Given the description of an element on the screen output the (x, y) to click on. 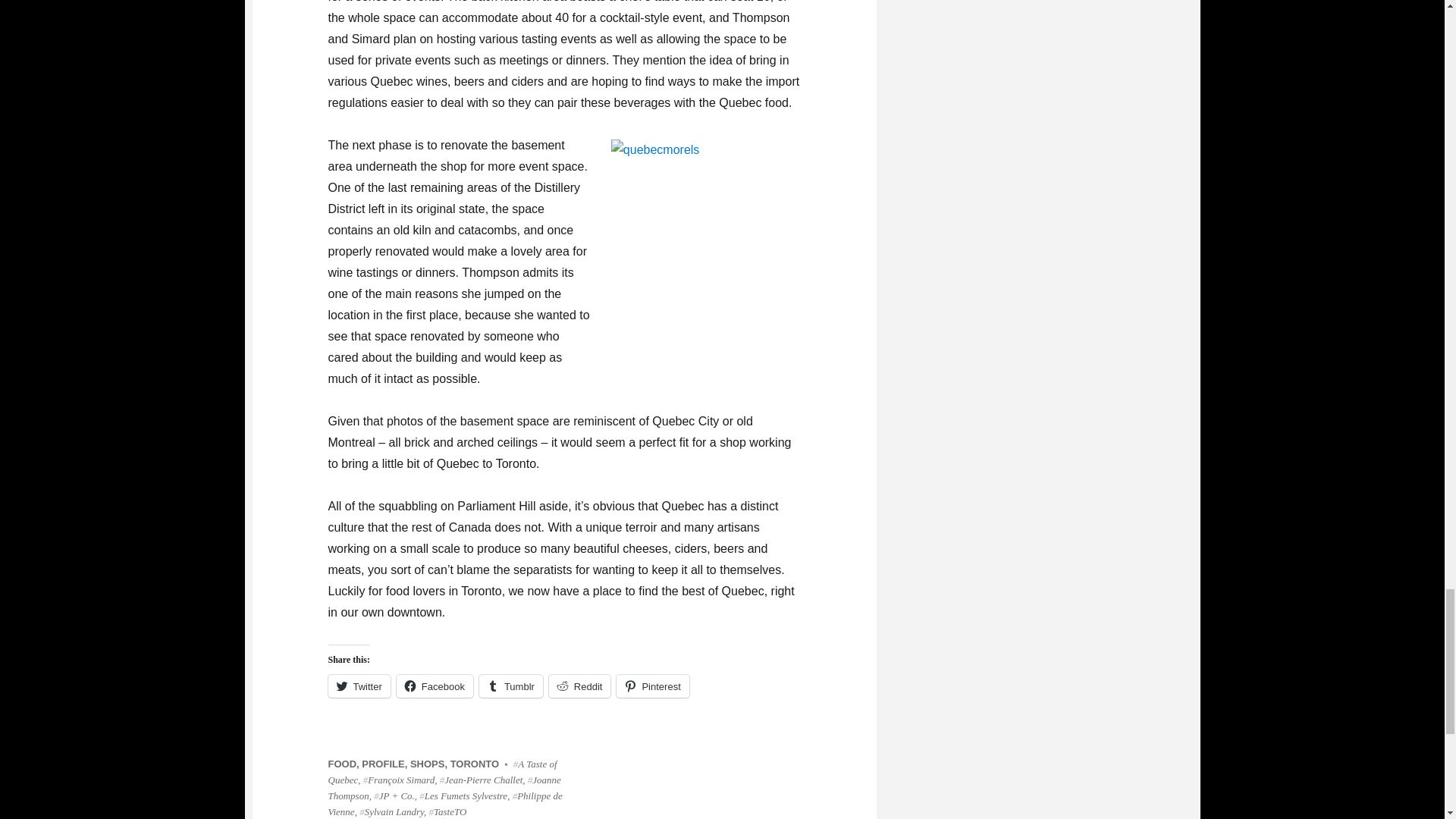
Click to share on Tumblr (511, 685)
TORONTO (474, 763)
Joanne Thompson (443, 787)
Click to share on Reddit (579, 685)
Reddit (579, 685)
Jean-Pierre Challet (480, 779)
SHOPS (427, 763)
Facebook (434, 685)
Click to share on Pinterest (651, 685)
PROFILE (382, 763)
